Given the description of an element on the screen output the (x, y) to click on. 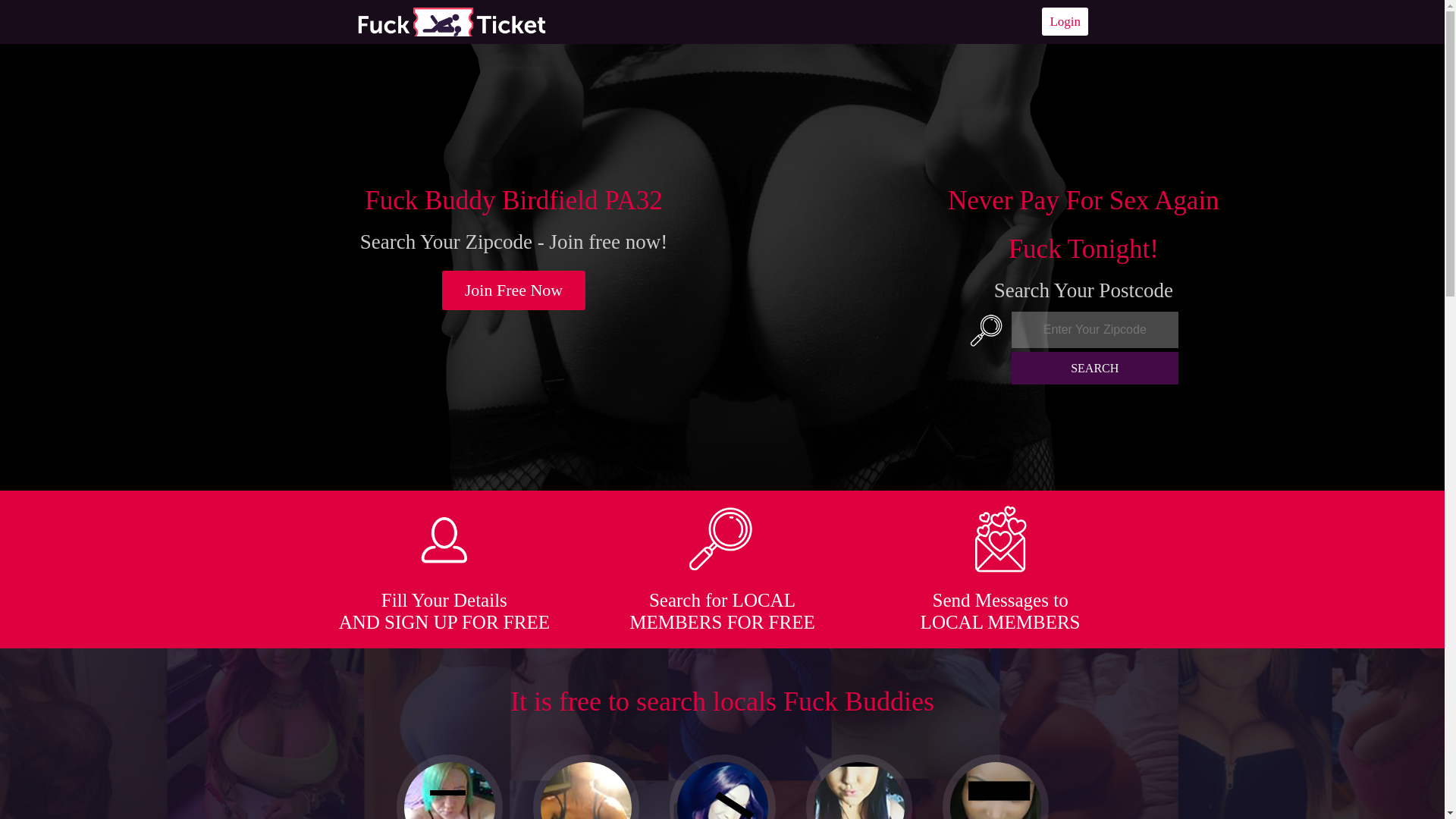
Join (514, 290)
Login to meetnfuck.uk (1064, 21)
Join Free Now (514, 290)
Login (1064, 21)
SEARCH (1094, 368)
Meet and Fuck (451, 21)
